Given the description of an element on the screen output the (x, y) to click on. 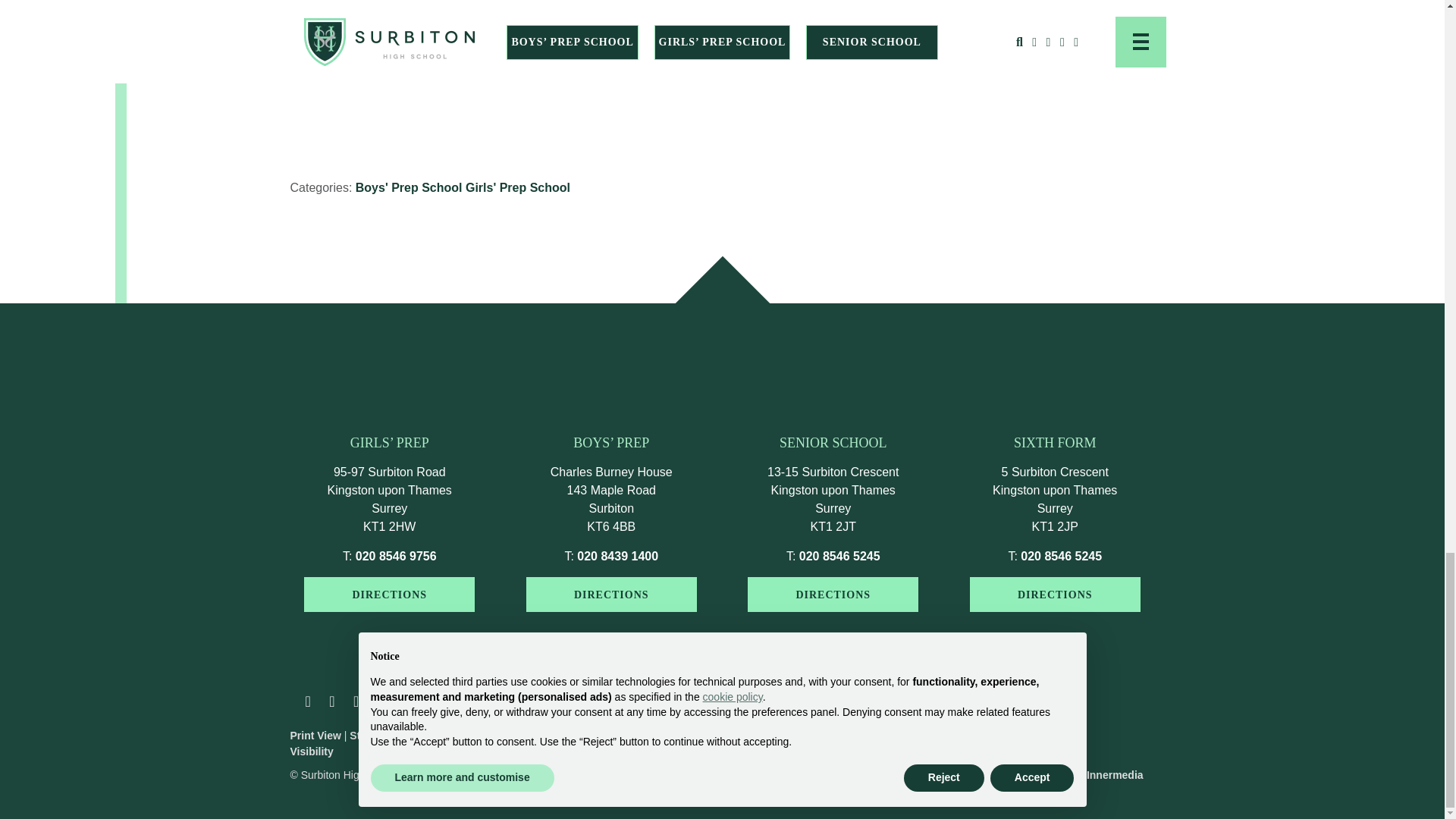
Switch to Standard Visibility (385, 735)
Switch to High Visibility (371, 743)
Switch to Print (314, 735)
